Given the description of an element on the screen output the (x, y) to click on. 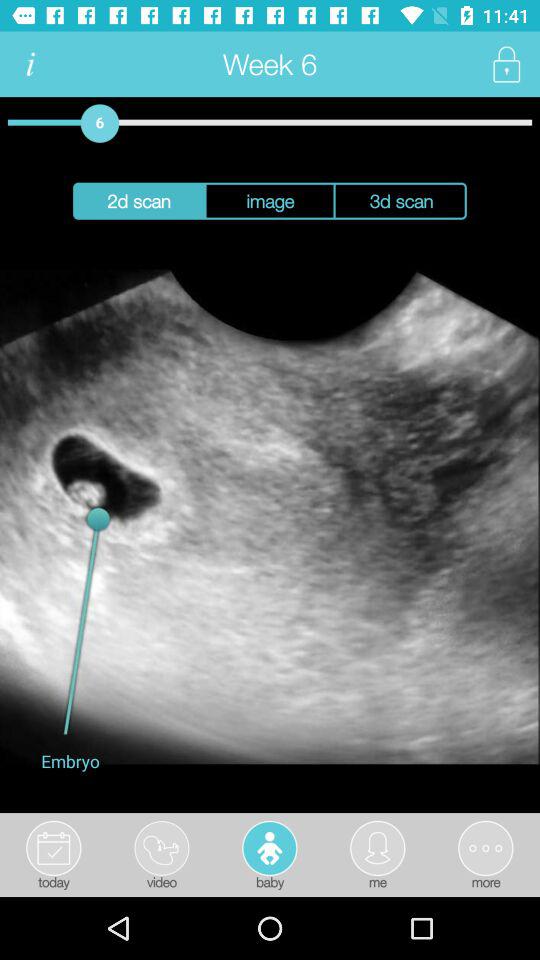
turn on item next to image item (138, 200)
